Given the description of an element on the screen output the (x, y) to click on. 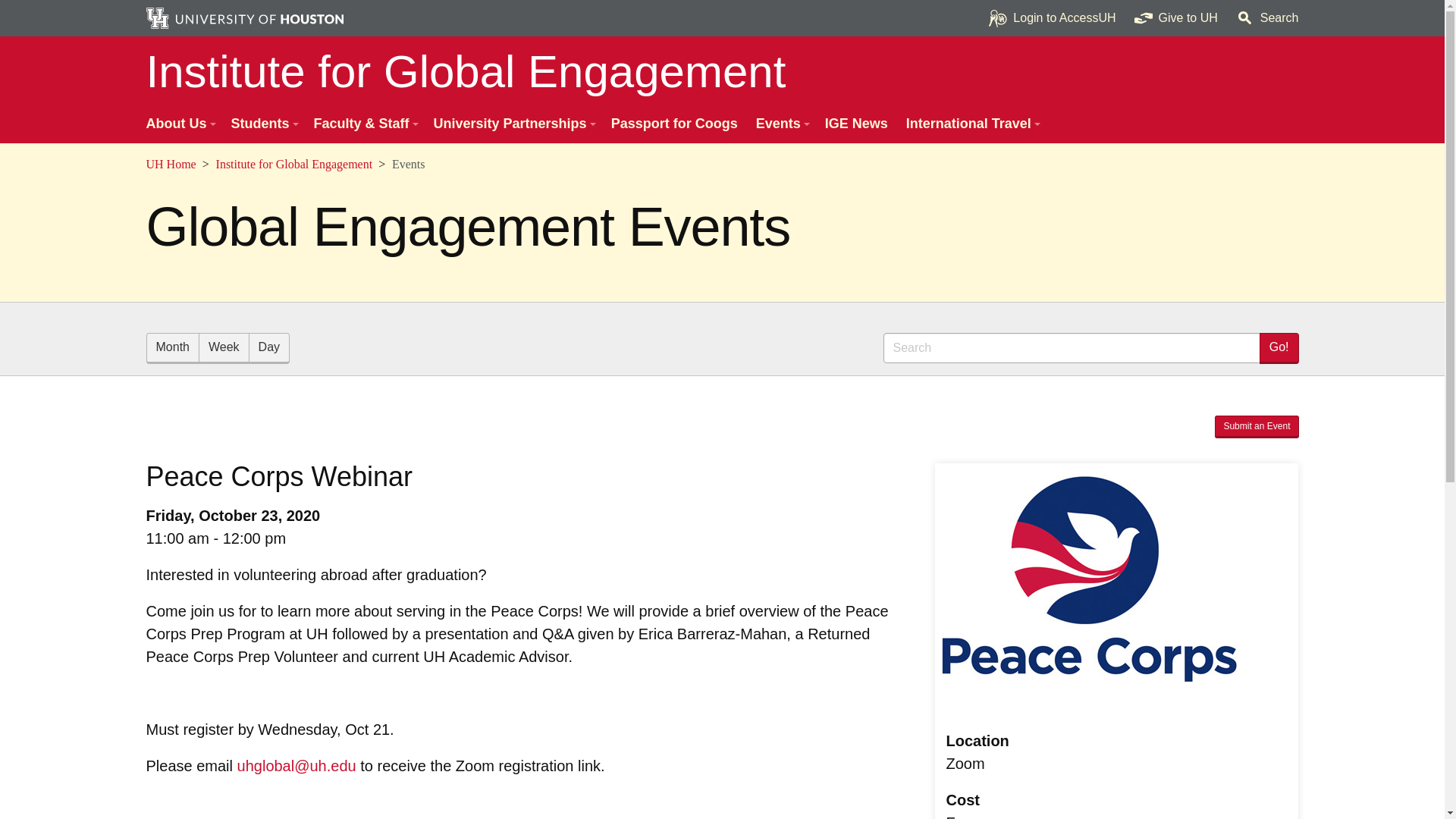
University of Houston (434, 656)
University Partnerships (513, 123)
Search (1267, 18)
Give to UH (1176, 18)
About Us (178, 123)
University of Houston (1208, 17)
Login to AccessUH (1051, 18)
University of Houston (154, 164)
Passport for Coogs (674, 123)
Events (780, 123)
University of Houston (317, 765)
University of Houston (317, 633)
Search (1070, 347)
Students (262, 123)
Institute for Global Engagement (721, 71)
